Given the description of an element on the screen output the (x, y) to click on. 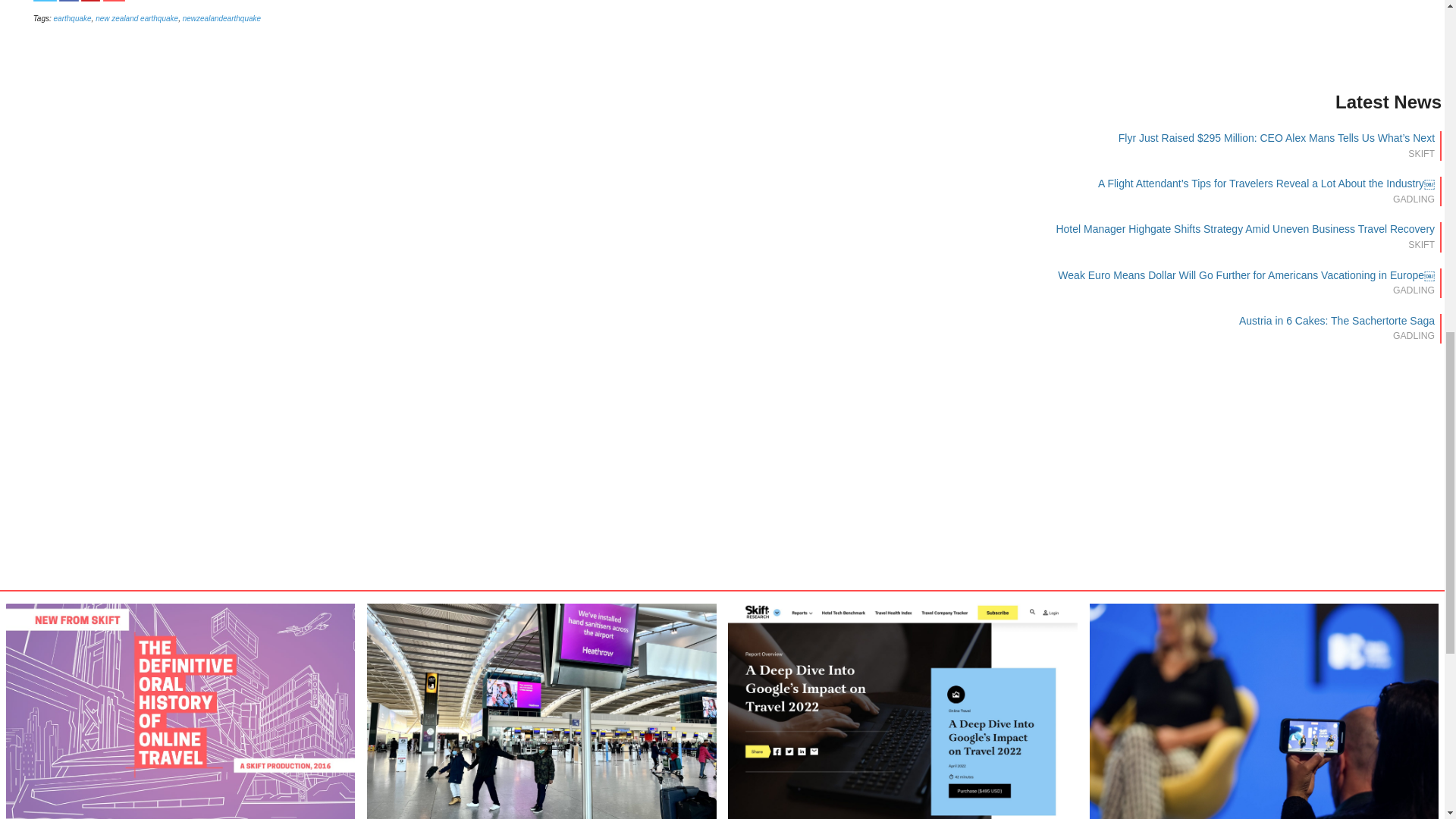
Share via email (114, 0)
Share on Twitter (44, 0)
Austria in 6 Cakes: The Sachertorte Saga (1336, 320)
